Given the description of an element on the screen output the (x, y) to click on. 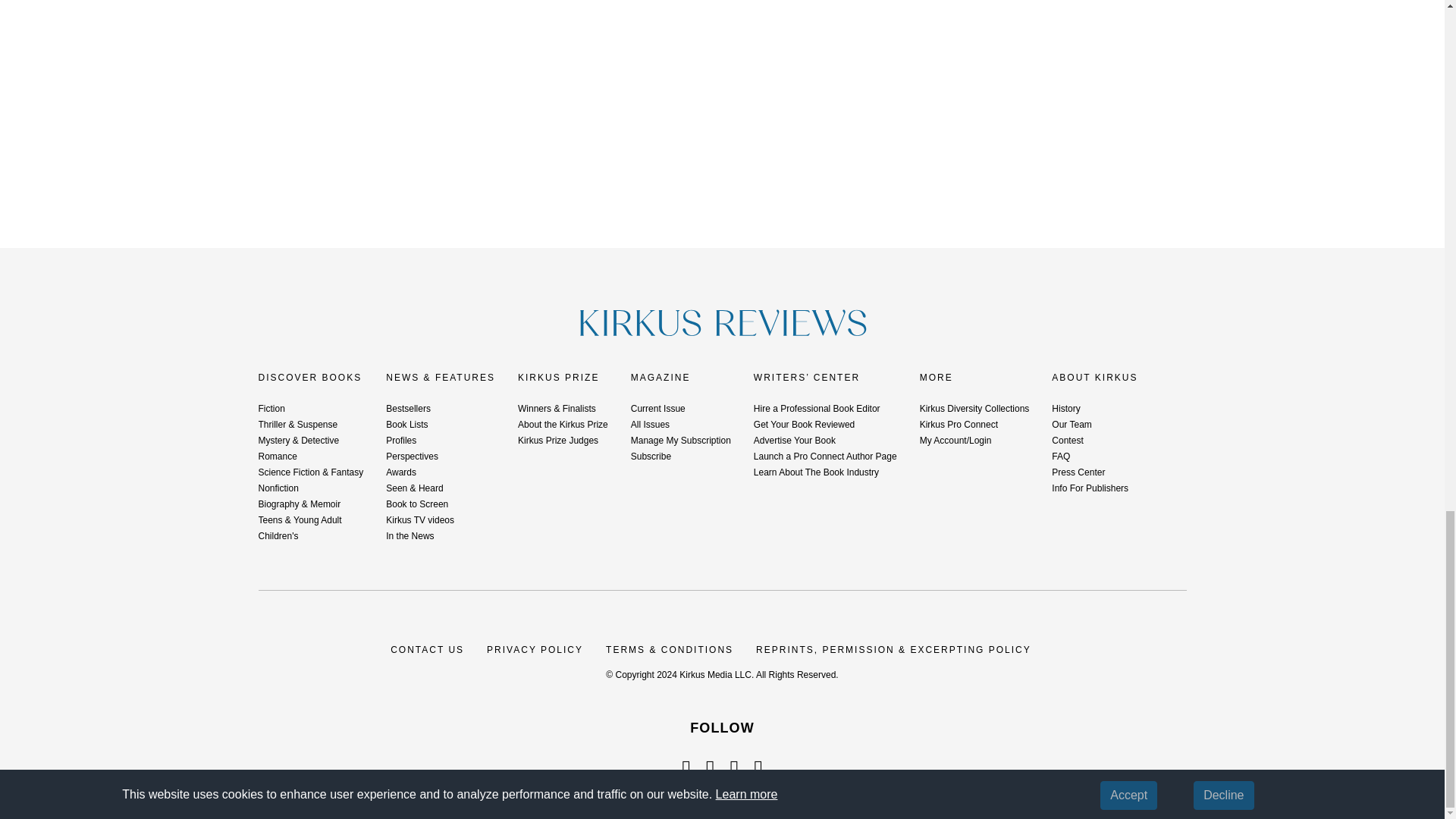
3rd party ad content (722, 85)
